Given the description of an element on the screen output the (x, y) to click on. 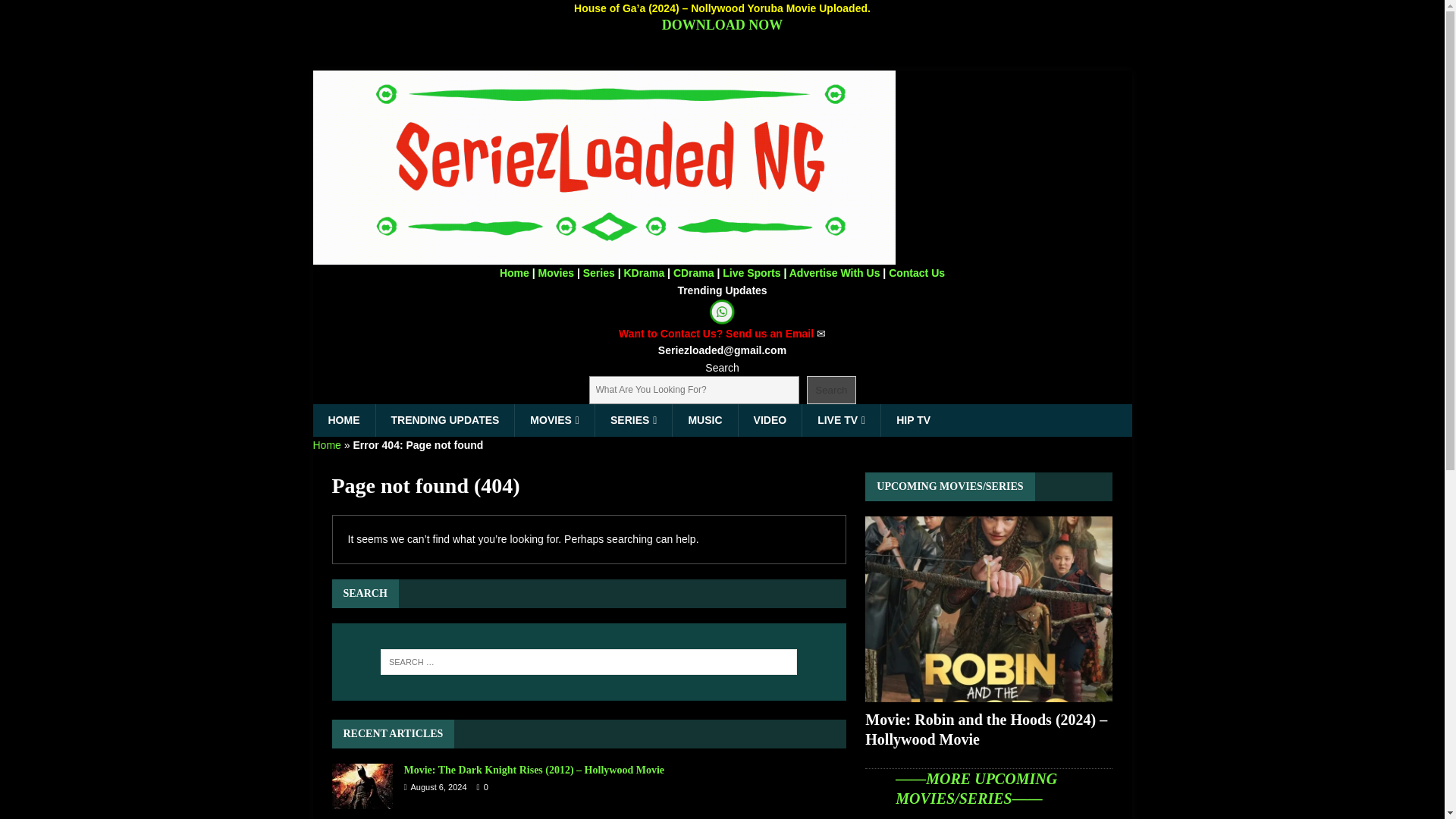
DOWNLOAD NOW (722, 24)
Movies (555, 272)
TRENDING UPDATES (443, 419)
KDrama (643, 272)
Advertise With Us (834, 272)
HOME (343, 419)
SERIES (632, 419)
LIVE TV (841, 419)
Home (326, 444)
Contact Us (916, 272)
CDrama (693, 272)
VIDEO (770, 419)
WhatsApp (722, 311)
MOVIES (553, 419)
HIP TV (912, 419)
